Given the description of an element on the screen output the (x, y) to click on. 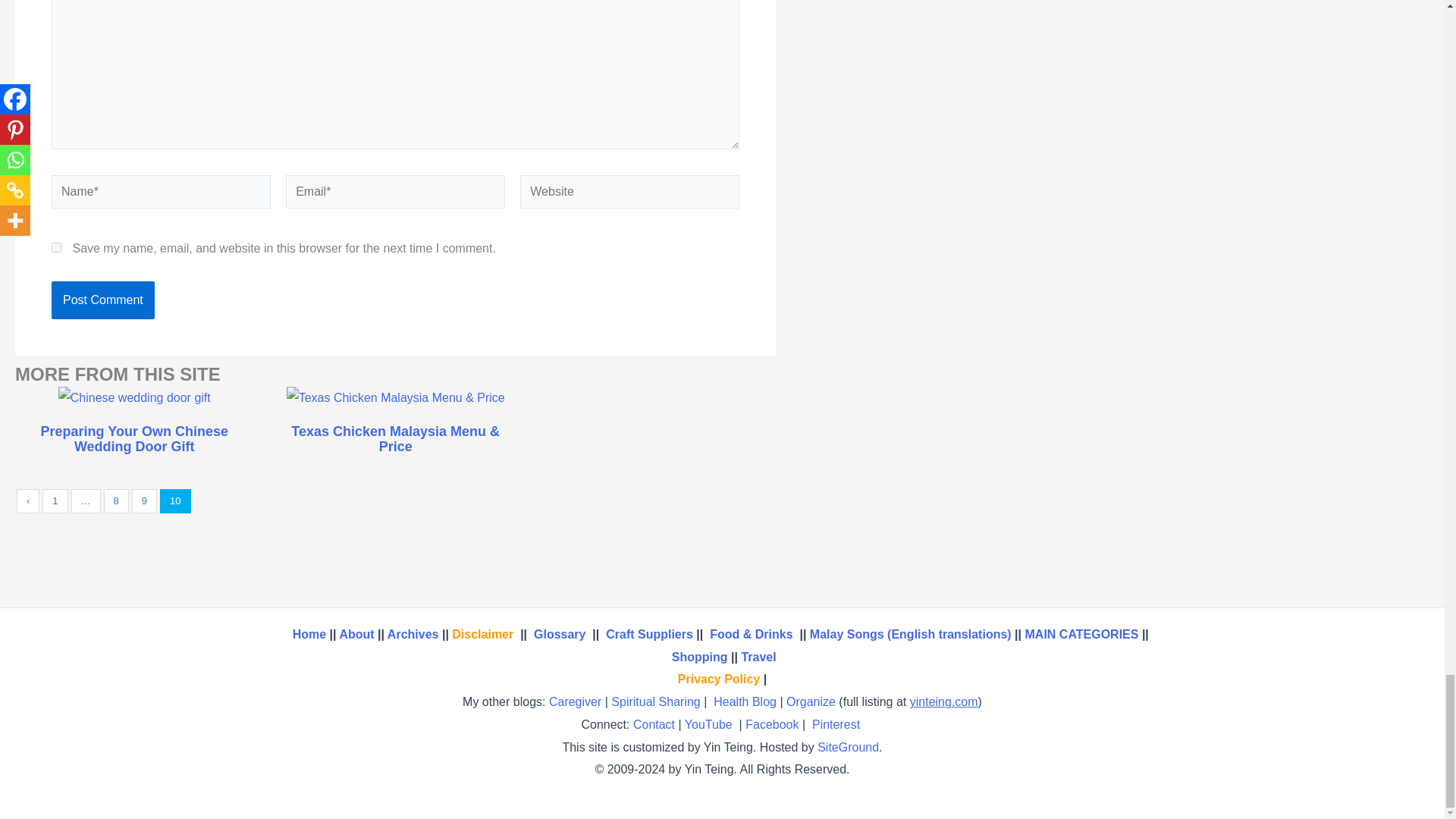
yes (55, 247)
Post Comment (102, 300)
Post Comment (102, 300)
Preparing Your Own Chinese Wedding Door Gift (133, 440)
